Given the description of an element on the screen output the (x, y) to click on. 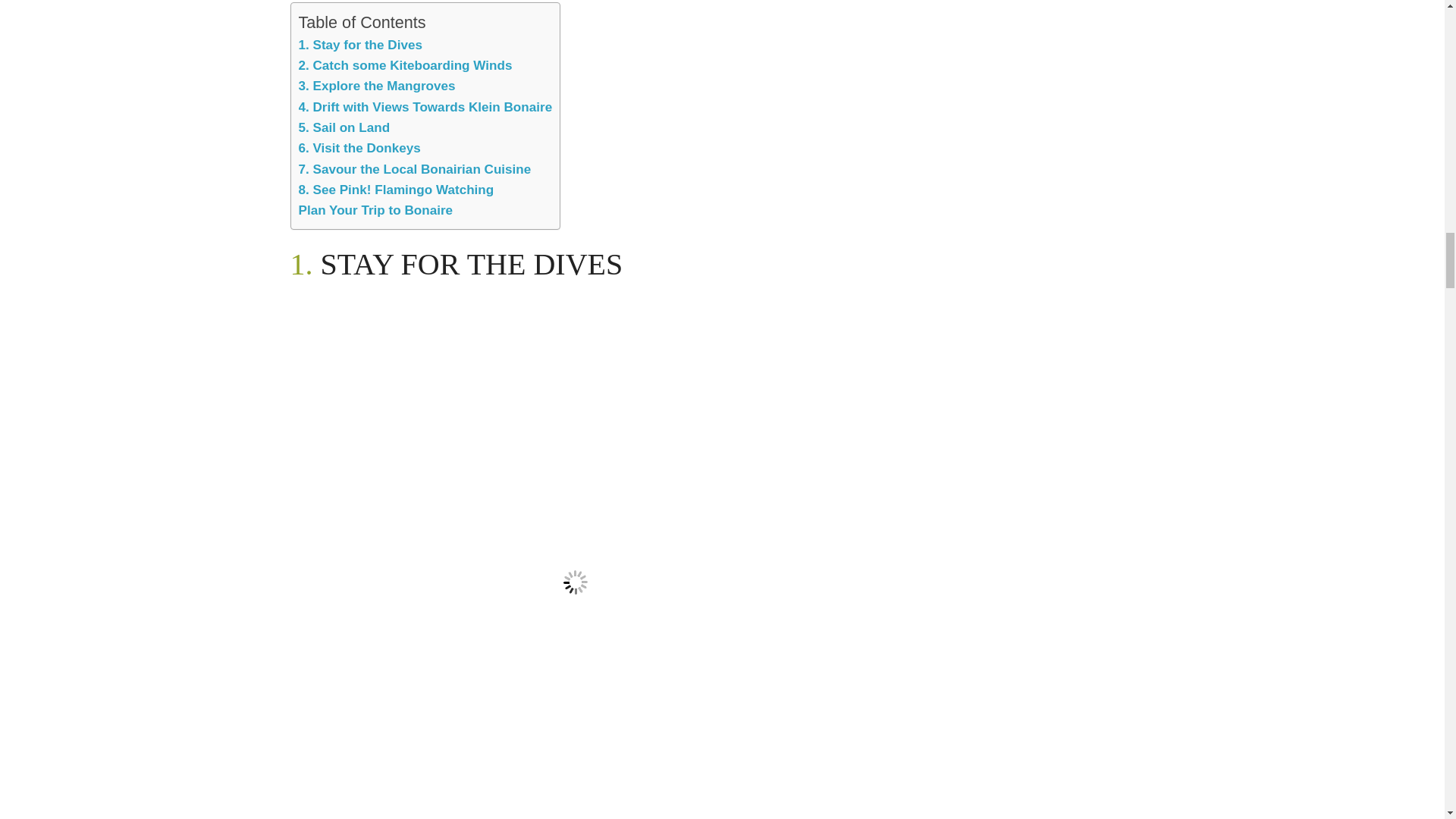
1. Stay for the Dives (360, 44)
1. Stay for the Dives (360, 44)
